Given the description of an element on the screen output the (x, y) to click on. 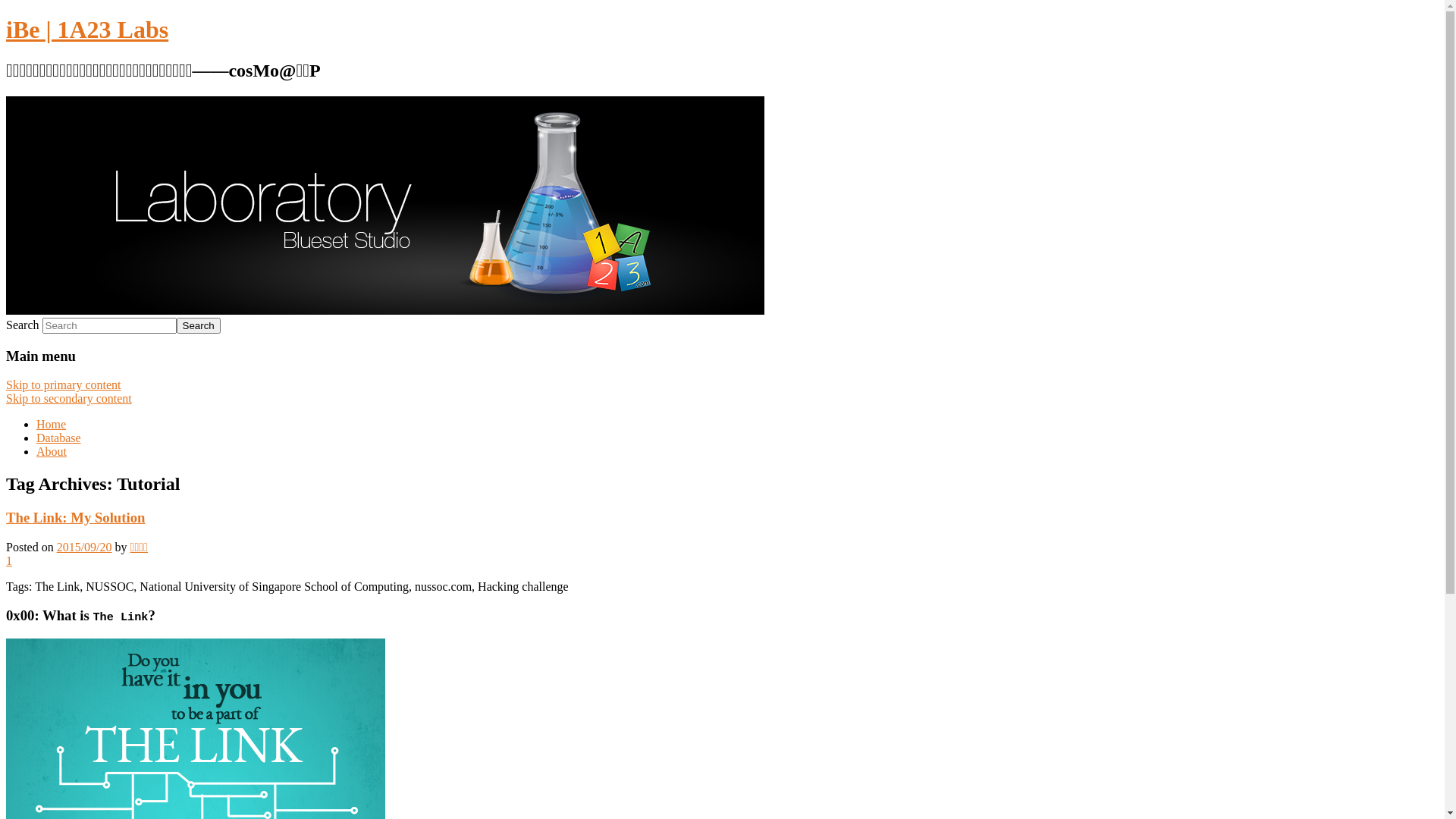
The Link: My Solution Element type: text (75, 517)
Search Element type: text (198, 325)
Database Element type: text (58, 437)
About Element type: text (51, 451)
Home Element type: text (50, 423)
Skip to primary content Element type: text (63, 384)
2015/09/20 Element type: text (84, 546)
Skip to secondary content Element type: text (68, 398)
iBe | 1A23 Labs Element type: text (87, 29)
1 Element type: text (9, 560)
